Given the description of an element on the screen output the (x, y) to click on. 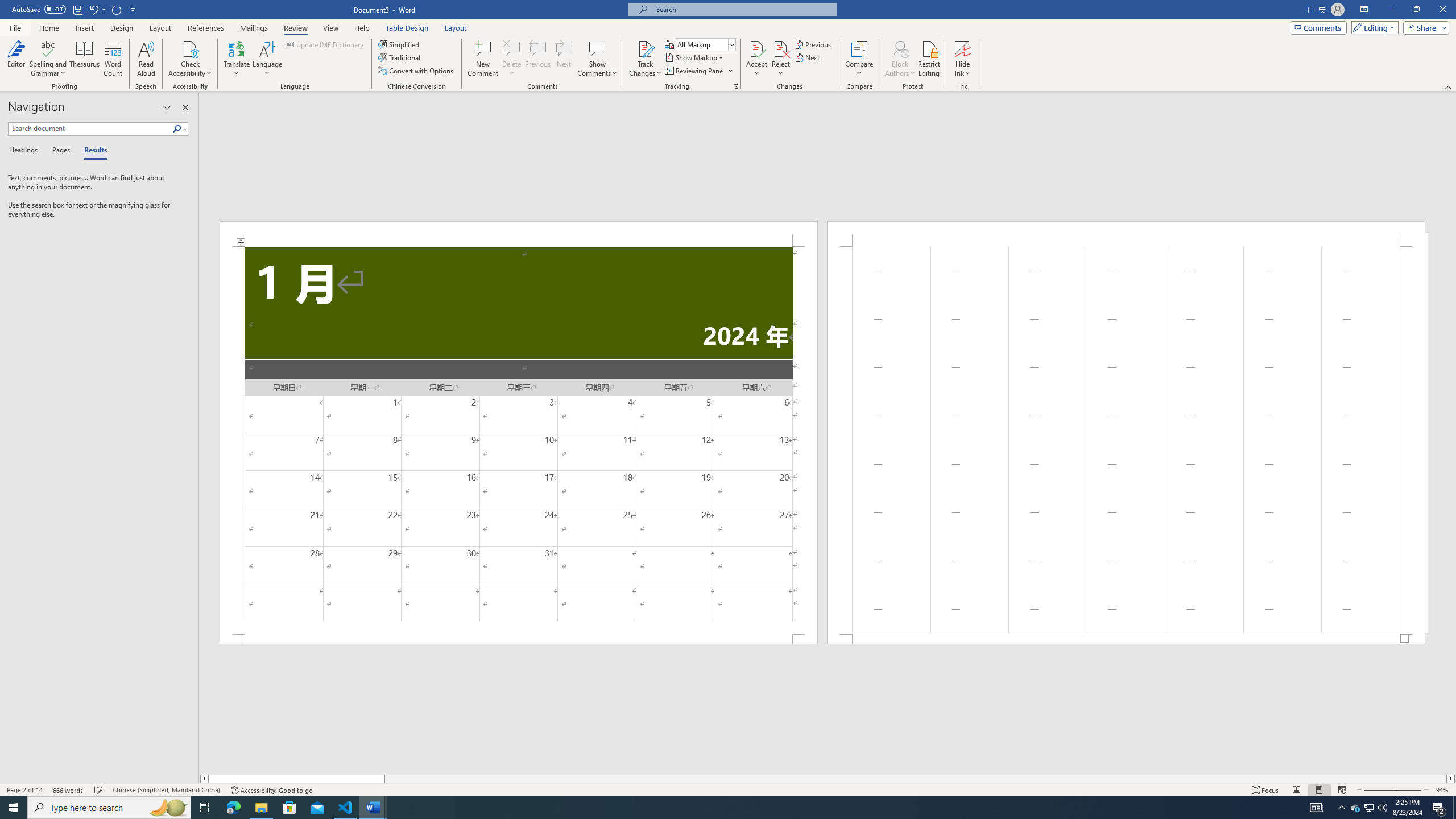
Page 1 content (518, 439)
Convert with Options... (417, 69)
Compare (859, 58)
Accept and Move to Next (756, 48)
